Given the description of an element on the screen output the (x, y) to click on. 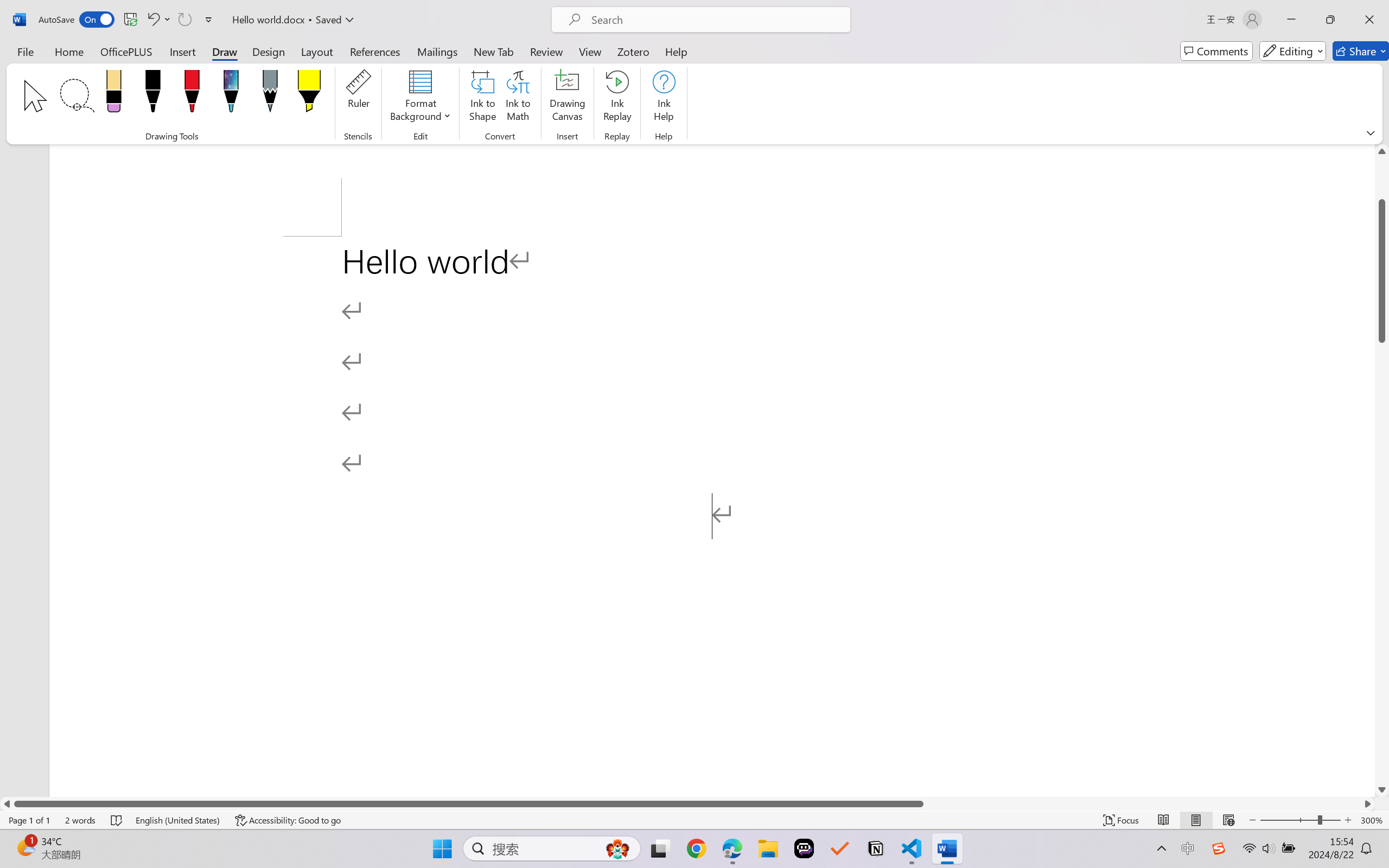
Minimize (1291, 19)
Ruler (358, 97)
Ink Help (663, 97)
